Given the description of an element on the screen output the (x, y) to click on. 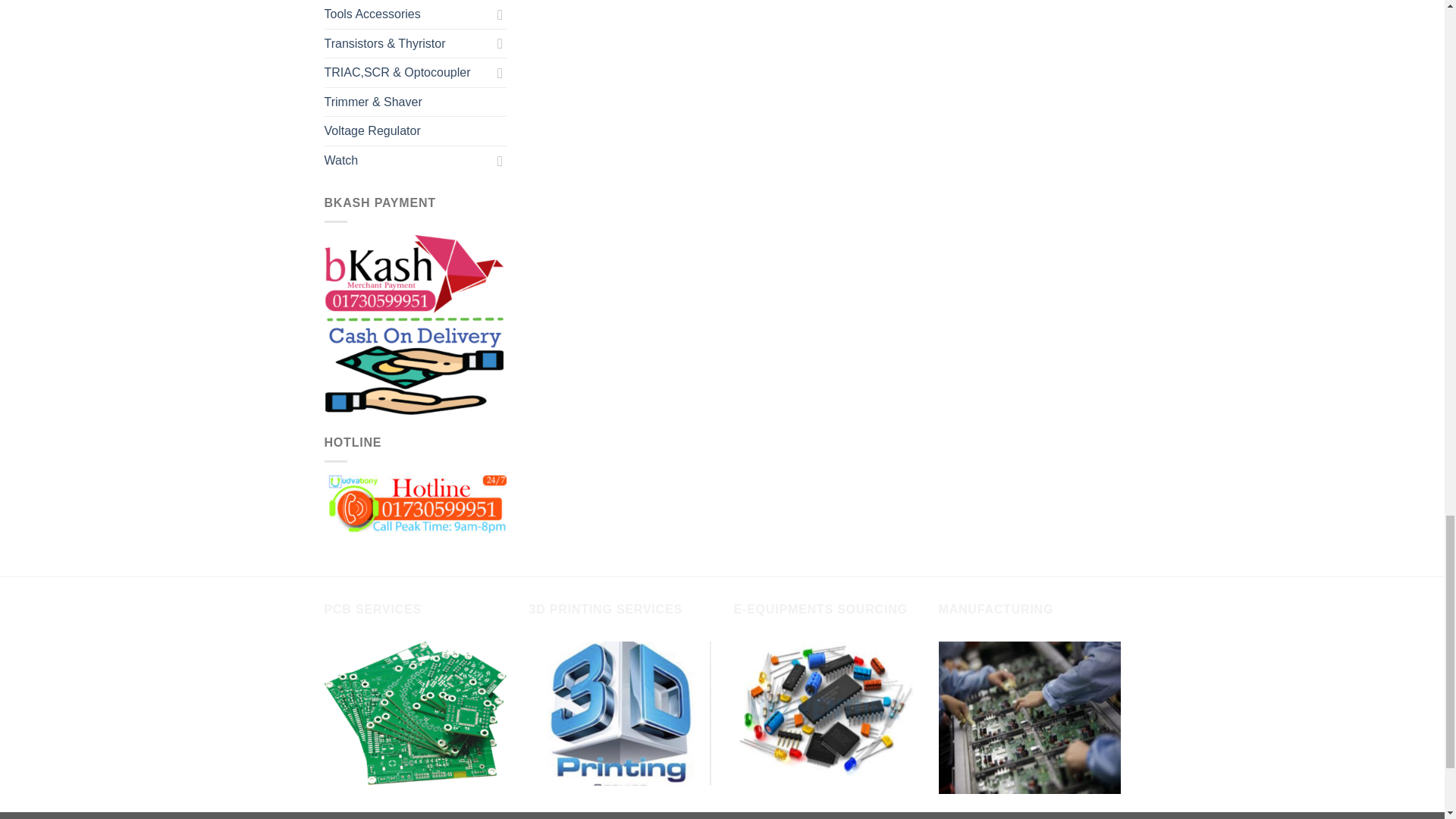
3D Printing Services (620, 713)
PCB Services (415, 712)
E-Equipments Sourcing (824, 708)
Manufacturing (1030, 717)
